Given the description of an element on the screen output the (x, y) to click on. 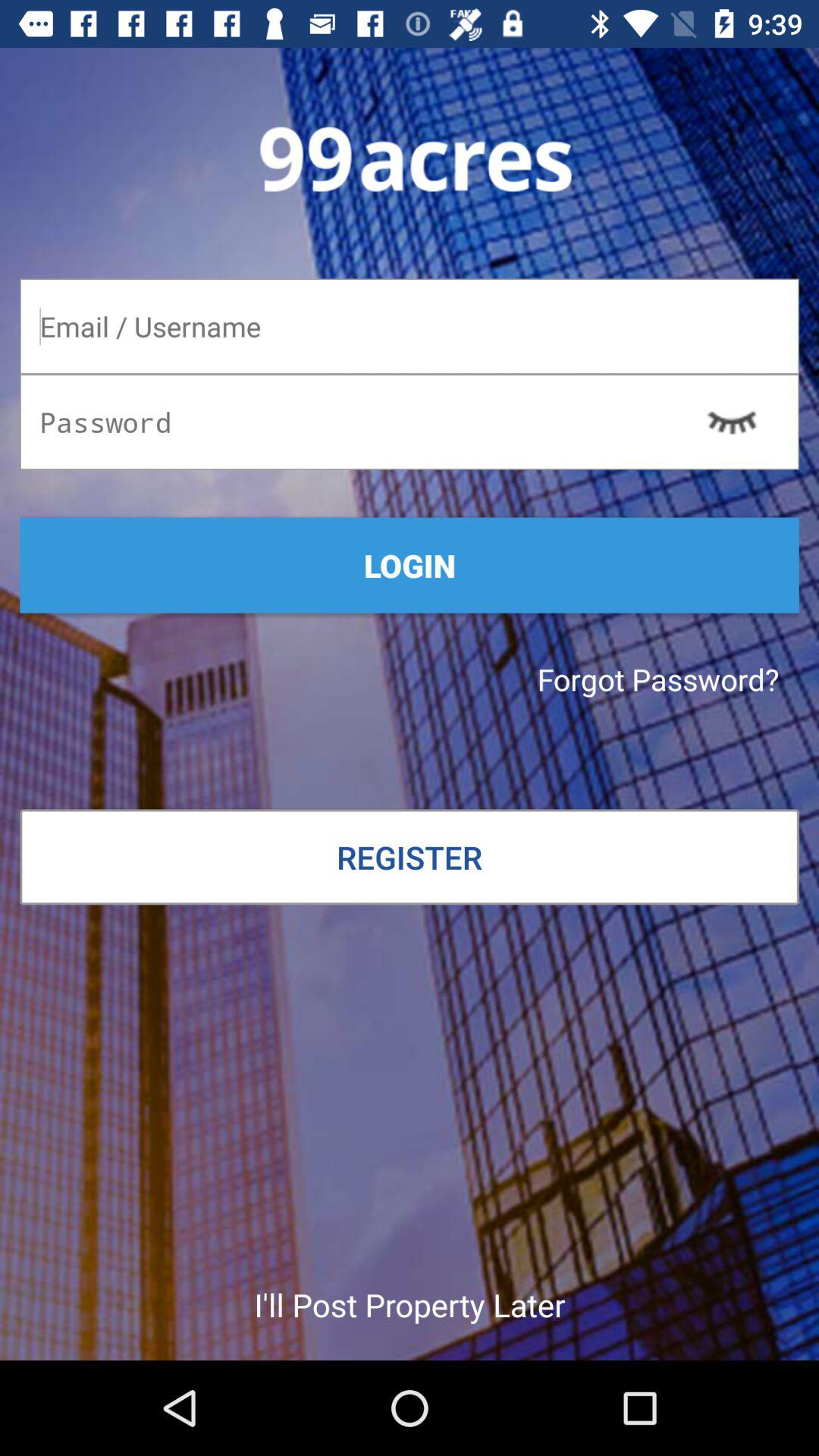
password page (409, 326)
